Given the description of an element on the screen output the (x, y) to click on. 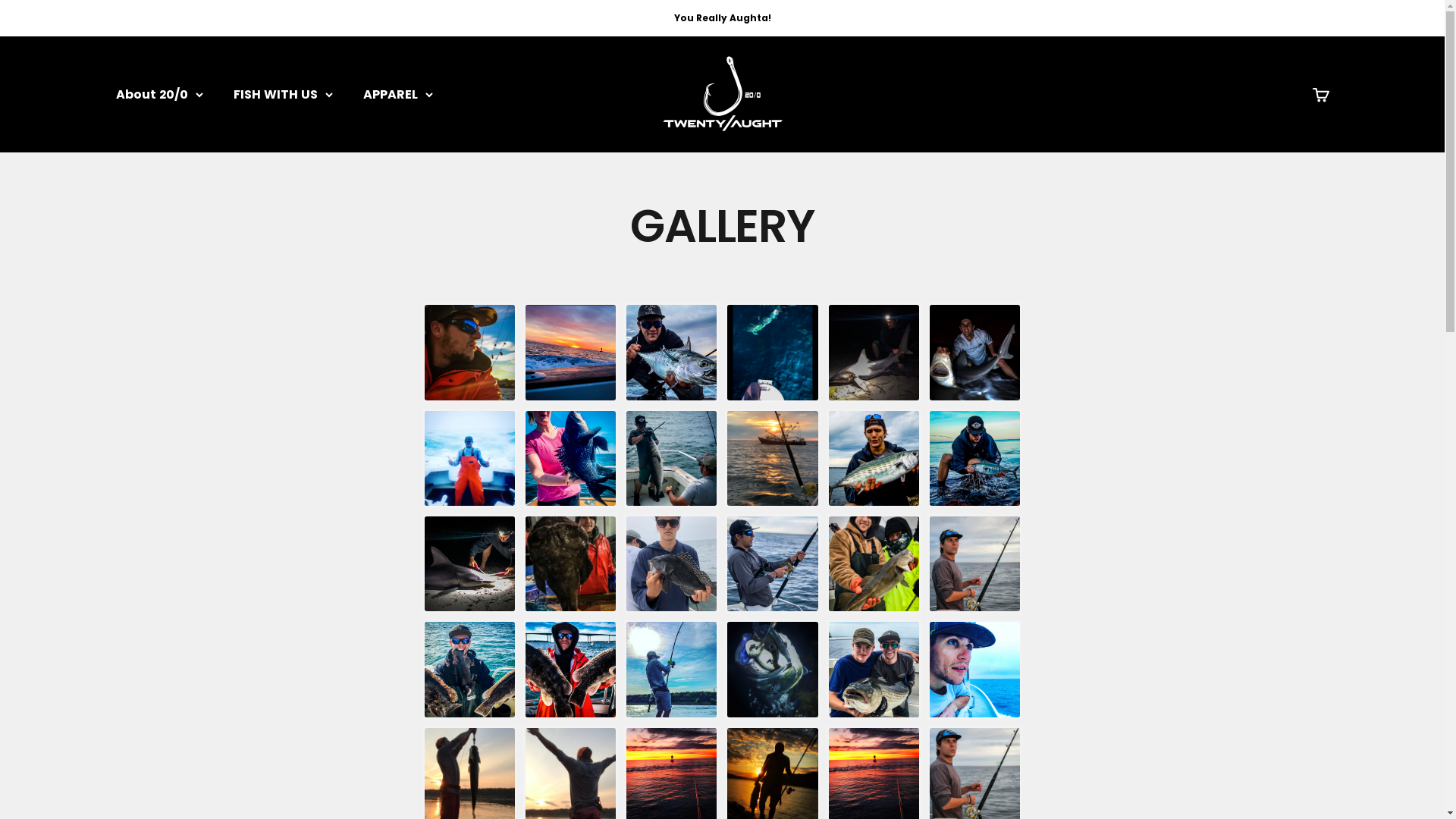
Twenty/Aught Element type: text (721, 94)
FISH WITH US Element type: text (282, 94)
Open cart
0 Element type: text (1319, 94)
